Given the description of an element on the screen output the (x, y) to click on. 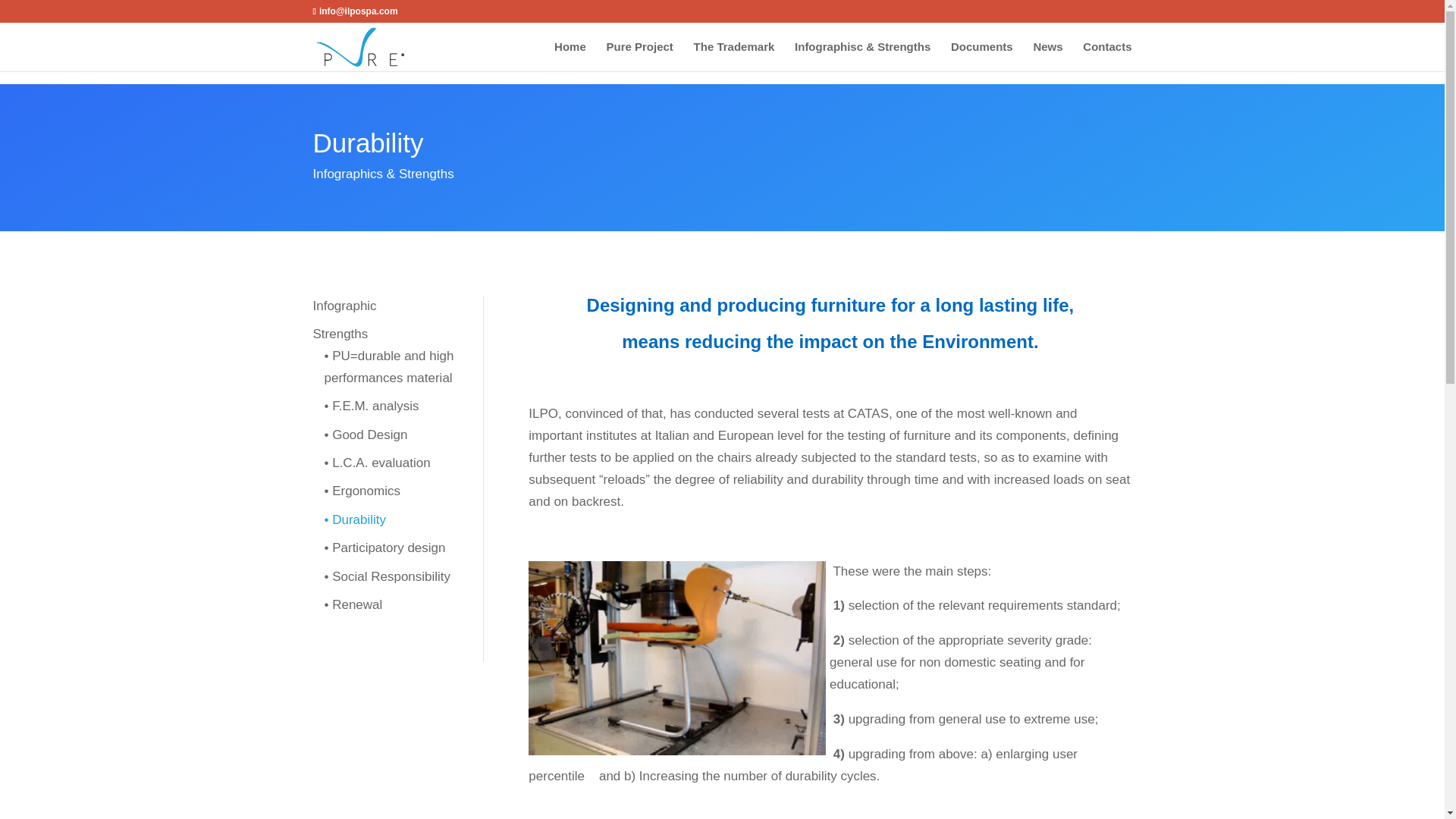
The Trademark (734, 50)
Pure Project (638, 50)
Contacts (1107, 50)
Infographic (344, 305)
Strengths (340, 333)
Documents (981, 50)
